Given the description of an element on the screen output the (x, y) to click on. 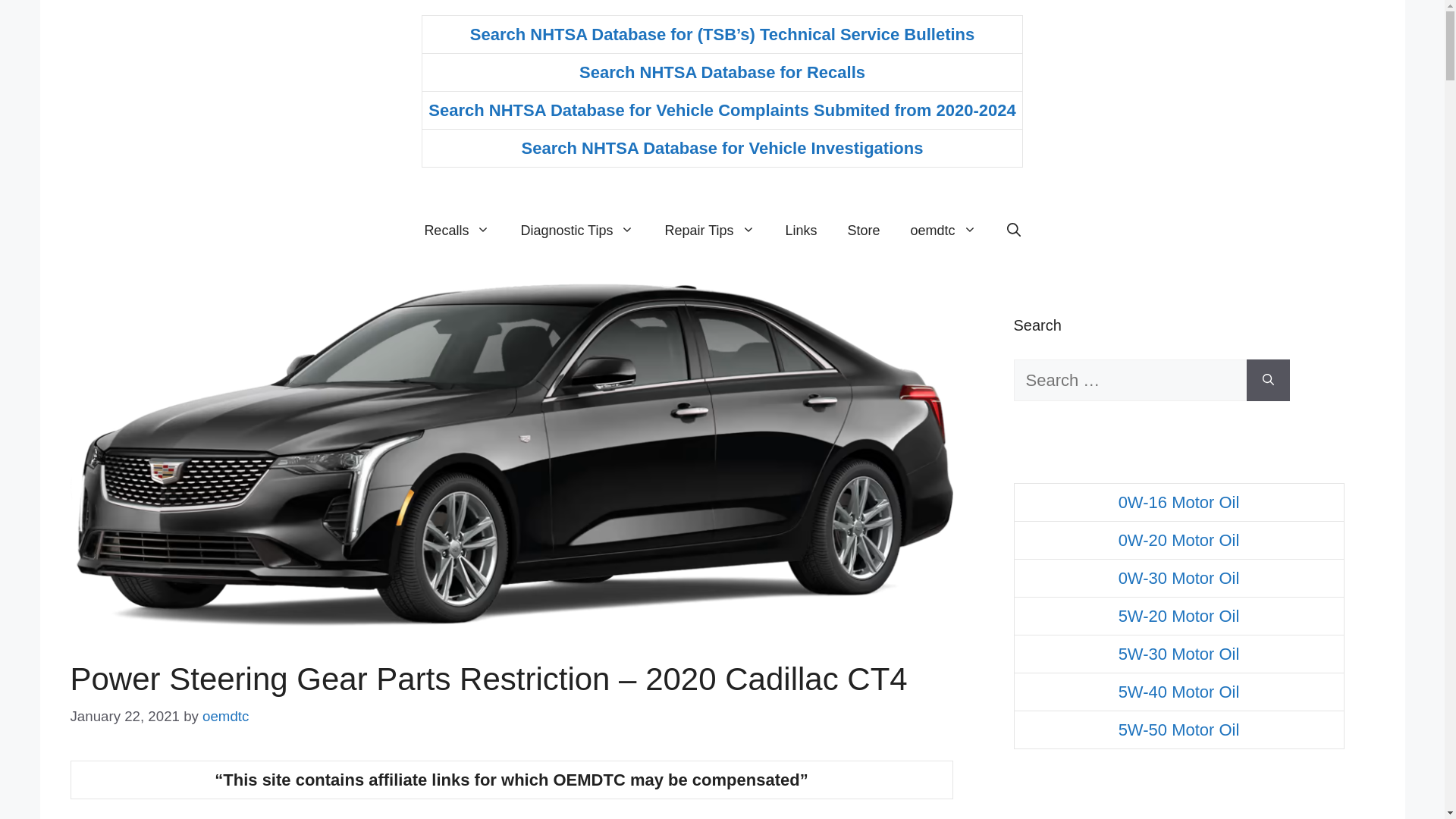
View all posts by oemdtc (225, 715)
Search NHTSA Database for Vehicle Investigations (722, 148)
Search NHTSA Database for Recalls (721, 72)
Diagnostic Tips (577, 230)
Repair Tips (709, 230)
Recalls (457, 230)
